Given the description of an element on the screen output the (x, y) to click on. 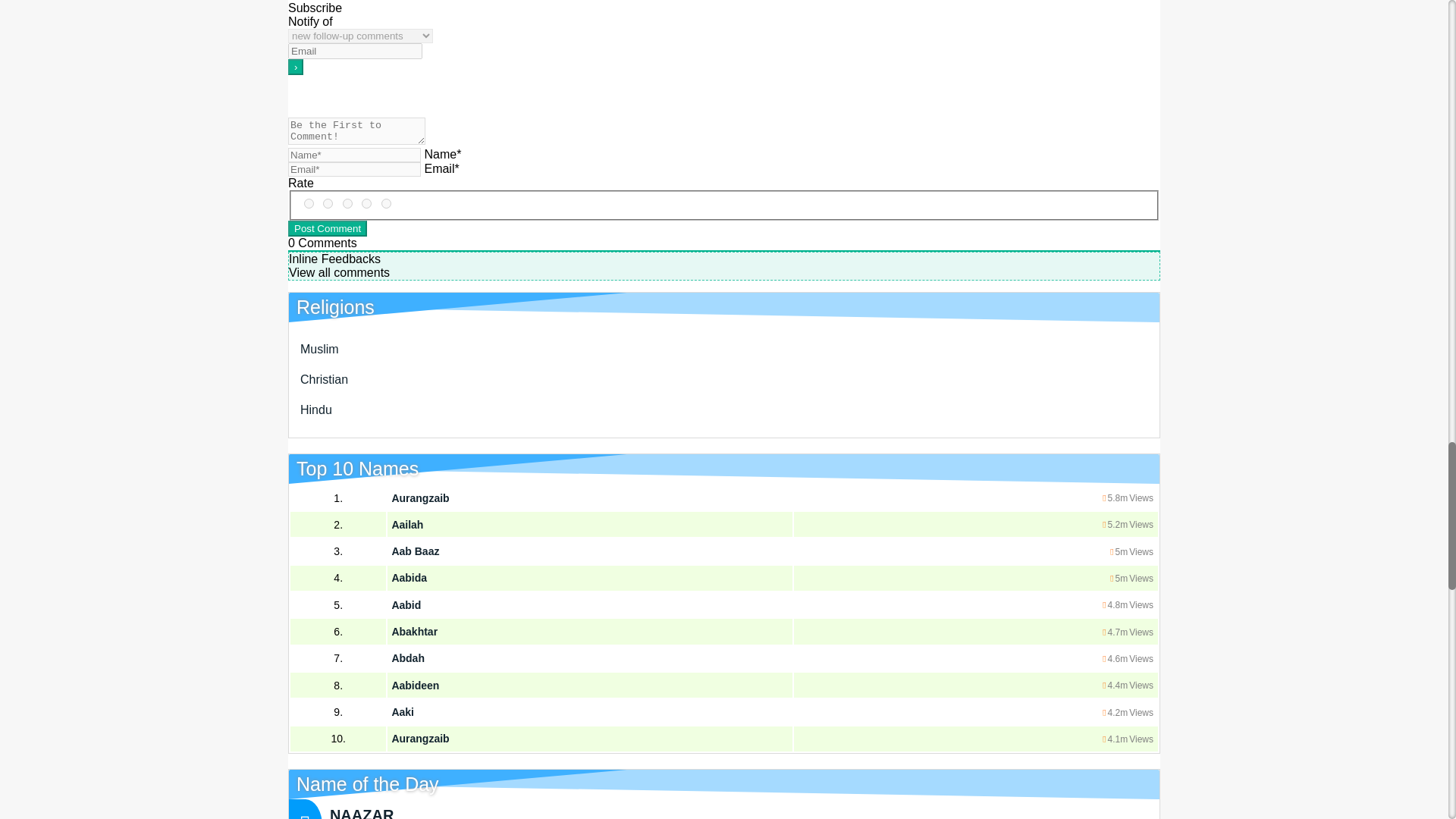
5 (309, 203)
2 (366, 203)
Aab Baaz (415, 551)
3 (347, 203)
4 (328, 203)
1 (386, 203)
Aailah (407, 524)
Aurangzaib (419, 498)
Post Comment (327, 228)
